Given the description of an element on the screen output the (x, y) to click on. 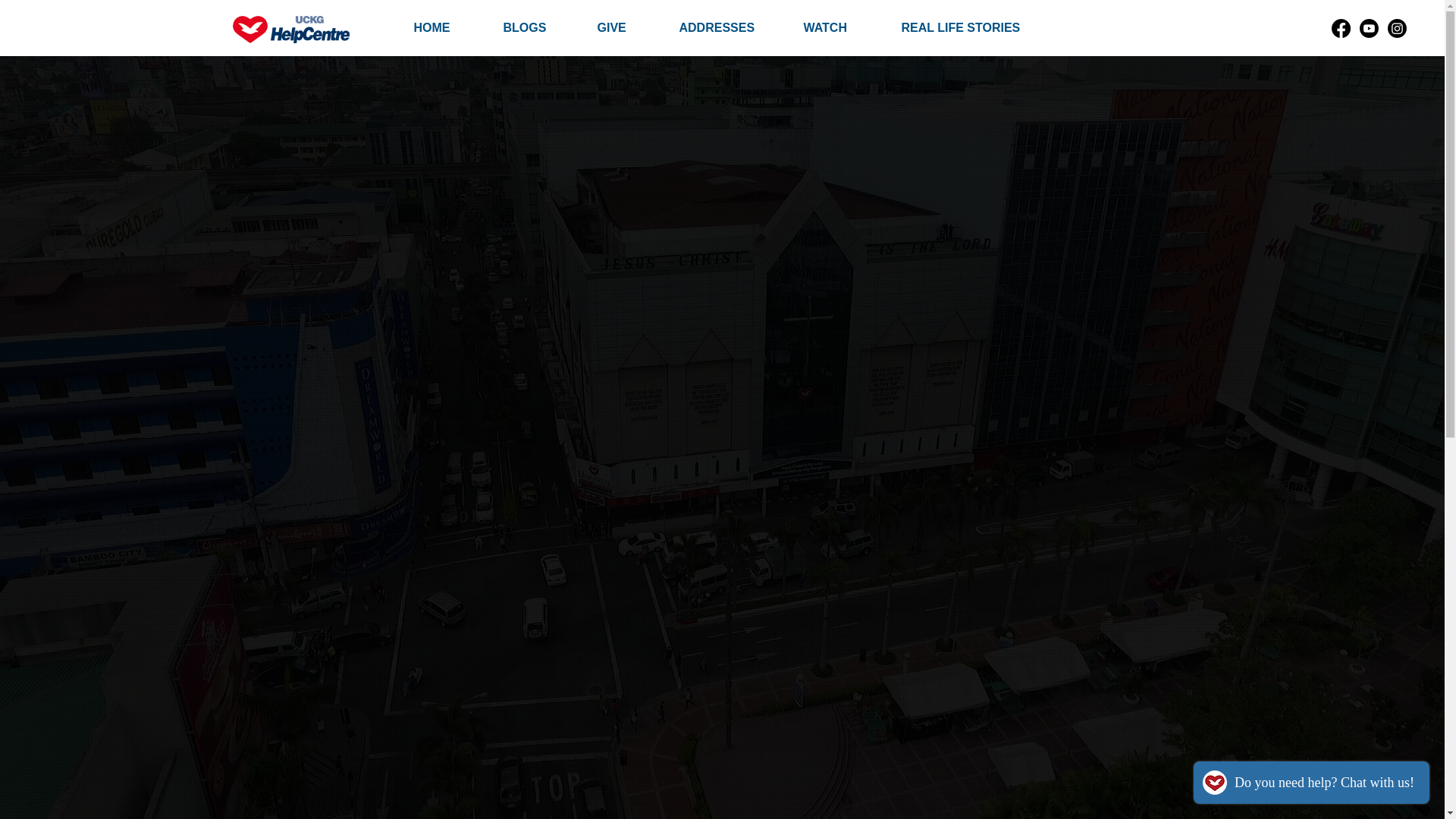
GIVE (625, 27)
REAL LIFE STORIES (973, 27)
HOME (446, 27)
BLOGS (538, 27)
ADDRESSES (729, 27)
WATCH (840, 27)
